Given the description of an element on the screen output the (x, y) to click on. 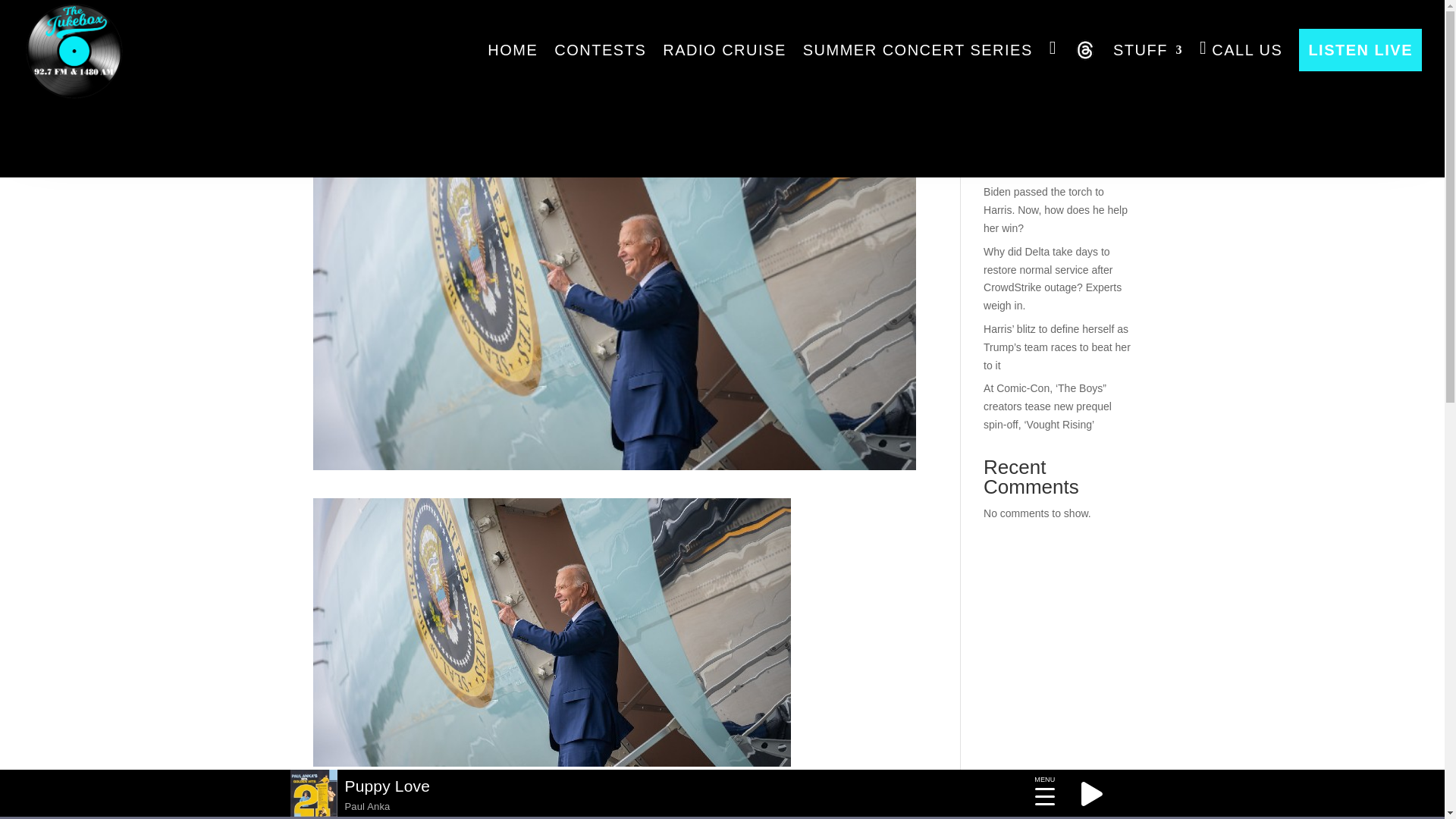
LISTEN LIVE (1360, 49)
Search (1106, 59)
CONTESTS (600, 49)
admin (340, 105)
Politics (446, 105)
Posts by admin (340, 105)
RADIO CRUISE (724, 49)
3rd party ad content (721, 101)
SUMMER CONCERT SERIES (917, 49)
